Given the description of an element on the screen output the (x, y) to click on. 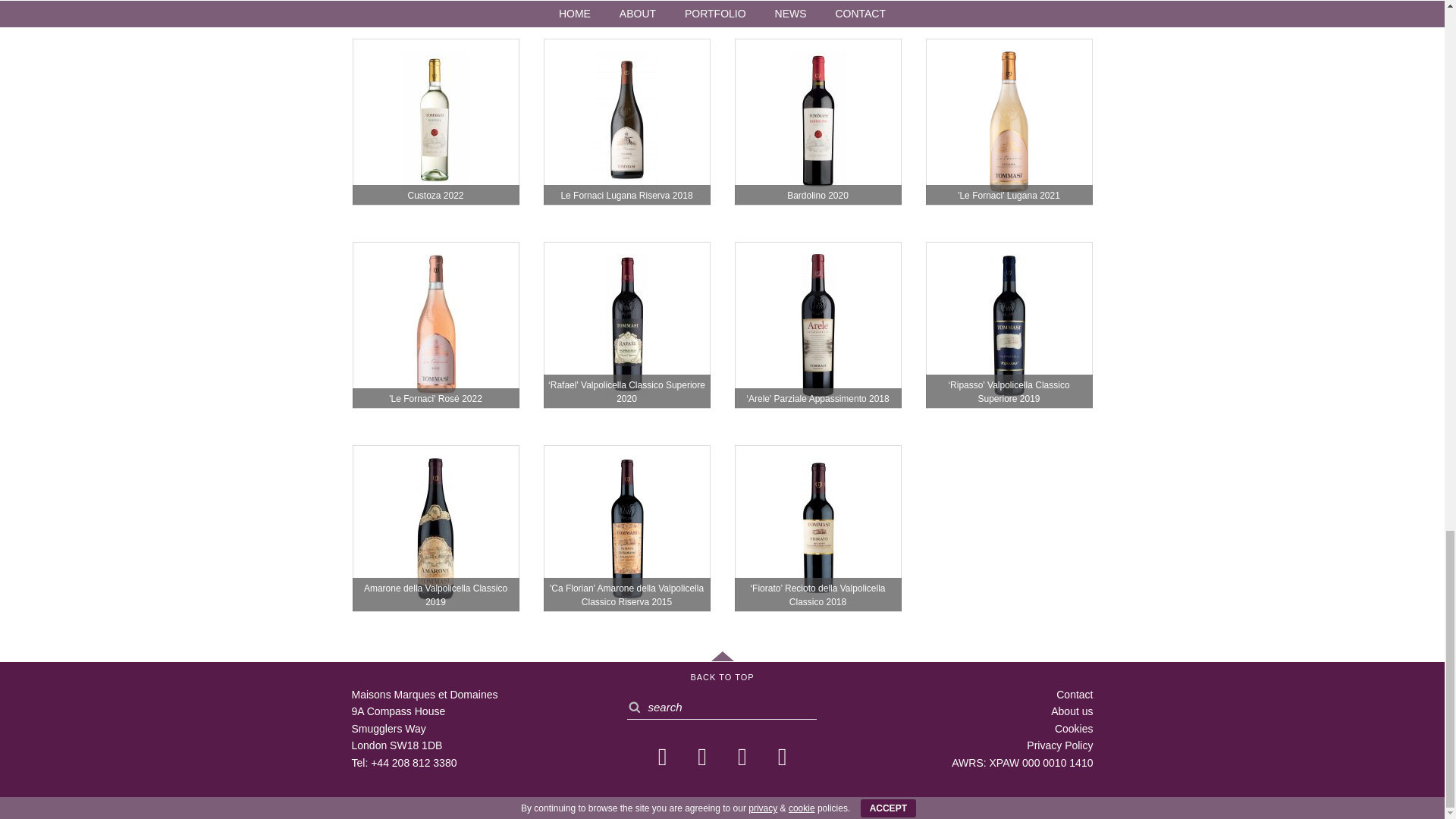
Bardolino 2020 (817, 121)
About us (1072, 711)
Le Fornaci Lugana Riserva 2018  (626, 121)
Amarone della Valpolicella Classico 2019 (435, 528)
'Le Fornaci' Lugana 2021 (1008, 121)
Cookies (1073, 728)
Bardolino 2020 (817, 121)
Privacy Policy (1059, 745)
Custoza 2022 (435, 121)
'Le Fornaci' Lugana 2021 (1008, 121)
Amarone della Valpolicella Classico 2019 (435, 528)
Le Fornaci Lugana Riserva 2018 (626, 121)
BACK TO TOP (722, 667)
Custoza 2022 (435, 121)
Contact (1075, 694)
